Given the description of an element on the screen output the (x, y) to click on. 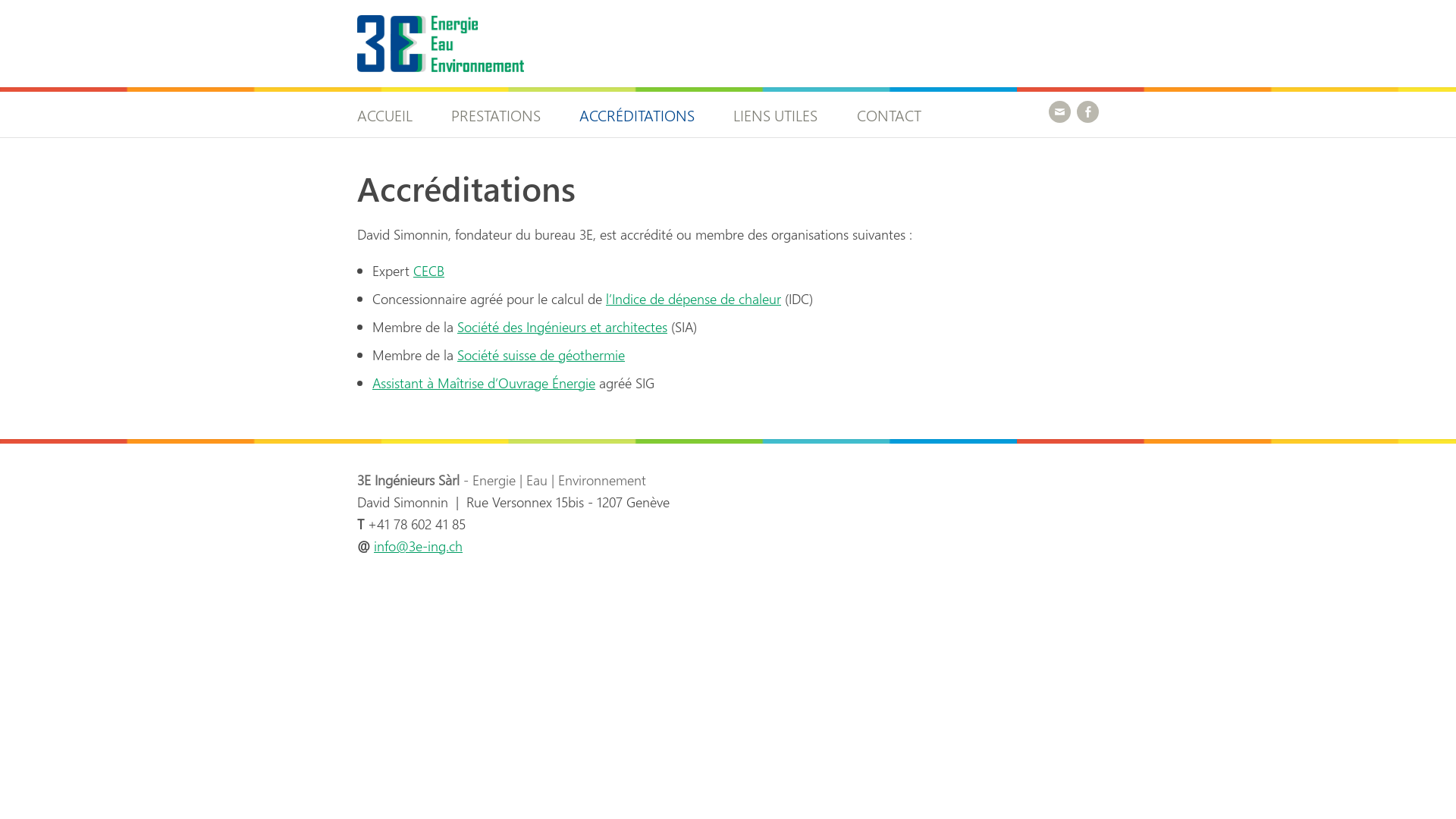
info@3e-ing.ch Element type: text (417, 545)
CECB Element type: text (428, 269)
LIENS UTILES Element type: text (774, 114)
PRESTATIONS Element type: text (495, 114)
3E Element type: text (371, 85)
ACCUEIL Element type: text (393, 114)
CONTACT Element type: text (888, 114)
